Given the description of an element on the screen output the (x, y) to click on. 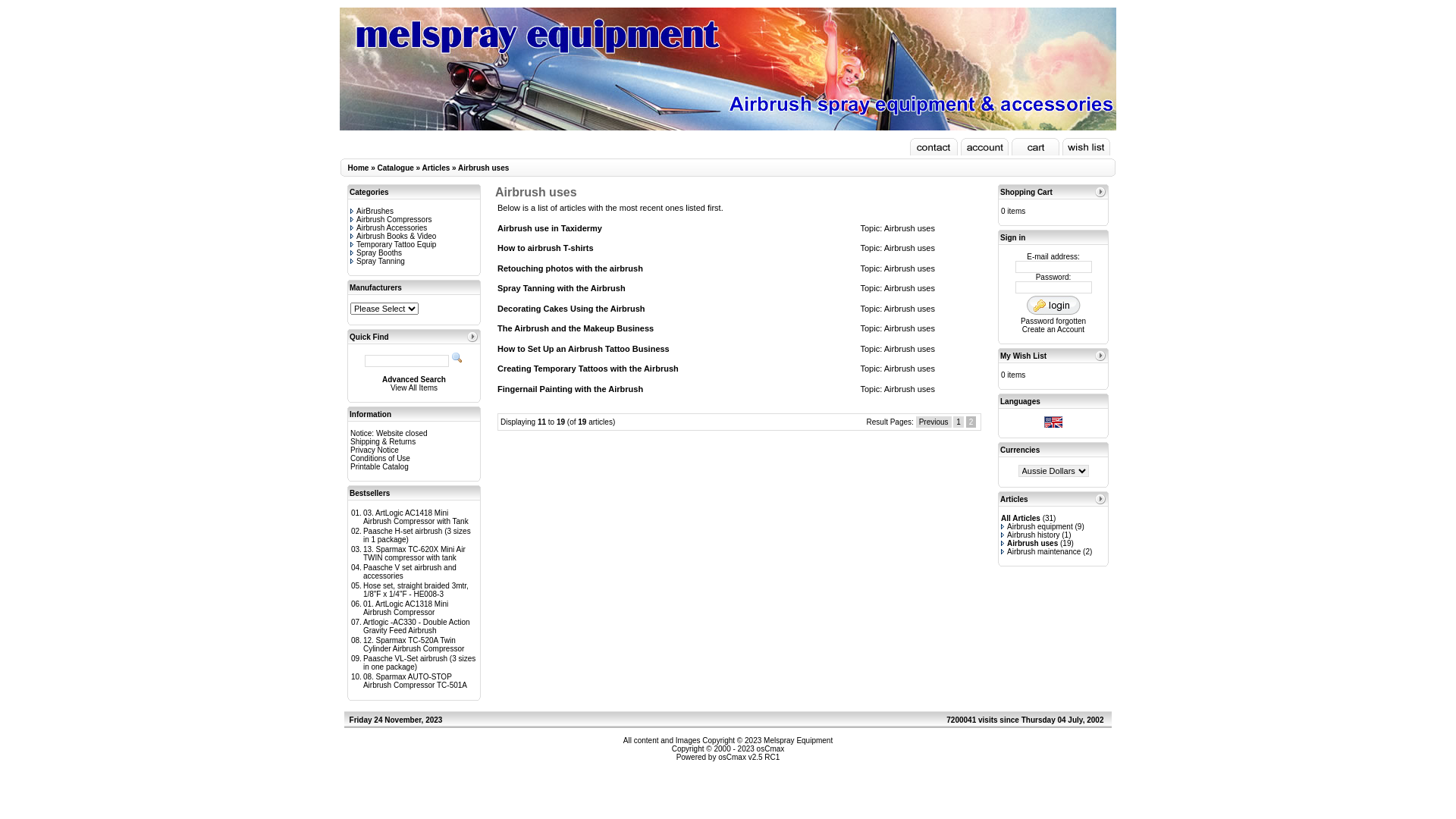
Conditions of Use Element type: text (380, 458)
Home Element type: text (358, 167)
Advanced Search Element type: text (413, 379)
more Element type: hover (472, 336)
AirBrushes Element type: text (371, 211)
All Articles Element type: text (1020, 518)
 Quick Find  Element type: hover (457, 357)
more Element type: hover (1100, 191)
Decorating Cakes Using the Airbrush Element type: text (571, 307)
Password forgotten Element type: text (1052, 320)
How to Set Up an Airbrush Tattoo Business Element type: text (583, 348)
 Sign In  Element type: hover (1053, 304)
View All Items Element type: text (413, 387)
Airbrush uses Element type: text (909, 327)
Airbrush use in Taxidermy Element type: text (549, 227)
Paasche H-set airbrush (3 sizes in 1 package) Element type: text (416, 535)
more Element type: hover (1100, 498)
Airbrush uses Element type: text (909, 368)
My Wish List Element type: text (1023, 355)
Airbrush Books & Video Element type: text (393, 236)
Airbrush uses Element type: text (909, 387)
Airbrush history Element type: text (1030, 534)
Creating Temporary Tattoos with the Airbrush Element type: text (587, 368)
Airbrush uses Element type: text (909, 247)
 Wish List  Element type: hover (1086, 146)
Articles Element type: text (1014, 498)
Airbrush uses Element type: text (909, 227)
 Cart Contents  Element type: hover (933, 146)
Printable Catalog Element type: text (379, 466)
Create an Account Element type: text (1053, 329)
How to airbrush T-shirts Element type: text (545, 247)
Melspray Equipment Element type: text (797, 740)
Airbrush uses Element type: text (909, 348)
more Element type: hover (1100, 355)
Spray Tanning with the Airbrush Element type: text (561, 287)
01. ArtLogic AC1318 Mini Airbrush Compressor Element type: text (405, 607)
Airbrush Accessories Element type: text (388, 227)
The Airbrush and the Makeup Business Element type: text (575, 327)
Airbrush uses Element type: text (1029, 543)
Hose set, straight braided 3mtr, 1/8"F x 1/4"F - HE008-3 Element type: text (415, 589)
Airbrush uses Element type: text (909, 287)
Artlogic -AC330 - Double Action Gravity Feed Airbrush Element type: text (416, 626)
Paasche V set airbrush and accessories Element type: text (409, 571)
 My Account  Element type: hover (984, 146)
Privacy Notice Element type: text (374, 449)
Airbrush Compressors Element type: text (390, 219)
 Cart Contents  Element type: hover (1035, 146)
osCmax v2.5 RC1 Element type: text (748, 757)
Airbrush uses Element type: text (909, 307)
osCmax Element type: text (769, 748)
Airbrush uses Element type: text (909, 268)
12. Sparmax TC-520A Twin Cylinder Airbrush Compressor Element type: text (413, 644)
Spray Booths Element type: text (375, 252)
 English  Element type: hover (1053, 421)
Paasche VL-Set airbrush (3 sizes in one package) Element type: text (419, 662)
Airbrush equipment Element type: text (1037, 526)
Airbrush uses Element type: text (483, 167)
Articles Element type: text (436, 167)
08. Sparmax AUTO-STOP Airbrush Compressor TC-501A Element type: text (415, 680)
Fingernail Painting with the Airbrush Element type: text (570, 387)
Shipping & Returns Element type: text (382, 441)
Spray Tanning Element type: text (377, 261)
Shopping Cart Element type: text (1026, 192)
Retouching photos with the airbrush Element type: text (570, 268)
Temporary Tattoo Equip Element type: text (393, 244)
Airbrush maintenance Element type: text (1040, 551)
1 Element type: text (958, 421)
Catalogue Element type: text (394, 167)
03. ArtLogic AC1418 Mini Airbrush Compressor with Tank Element type: text (415, 516)
13. Sparmax TC-620X Mini Air TWIN compressor with tank Element type: text (414, 553)
Notice: Website closed Element type: text (388, 433)
Previous Element type: text (933, 421)
